Given the description of an element on the screen output the (x, y) to click on. 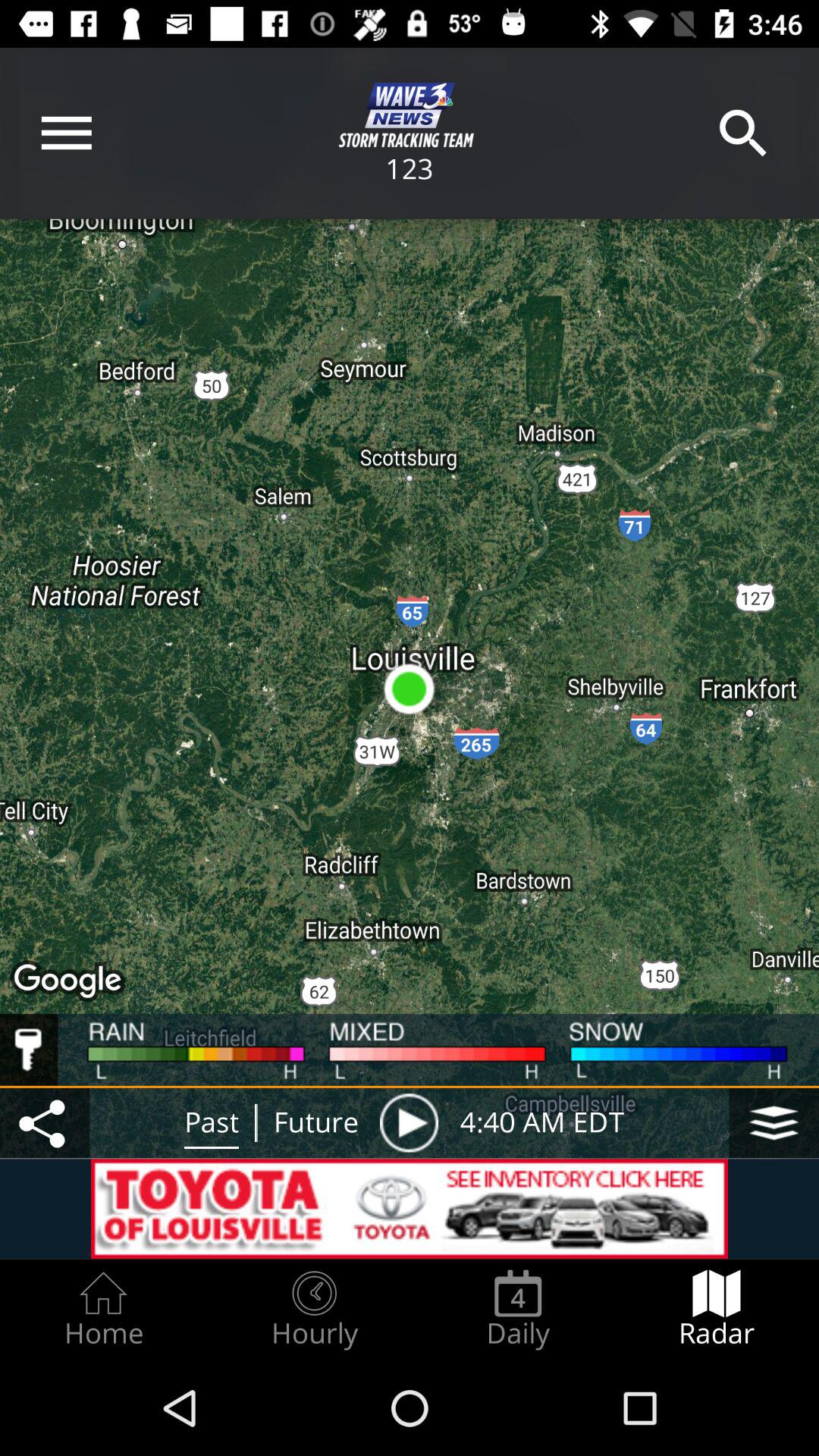
click the radio button to the right of daily item (716, 1309)
